Given the description of an element on the screen output the (x, y) to click on. 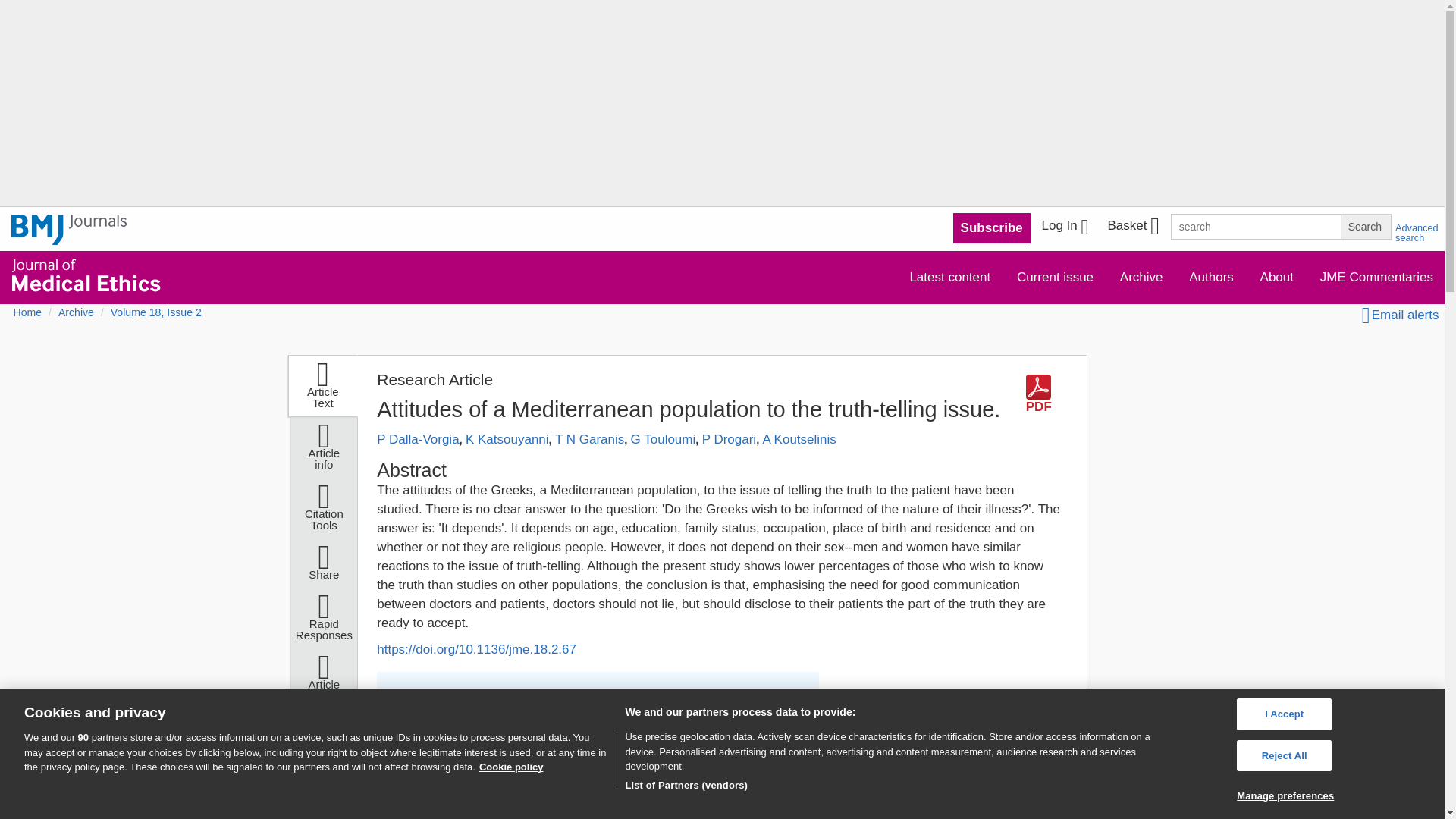
Advanced search (1416, 232)
Search (1364, 226)
BMJ Journals (68, 237)
Search (1364, 226)
Current issue (1055, 276)
About (1276, 276)
Subscribe (991, 227)
3rd party ad content (947, 729)
Log In (1064, 228)
